Given the description of an element on the screen output the (x, y) to click on. 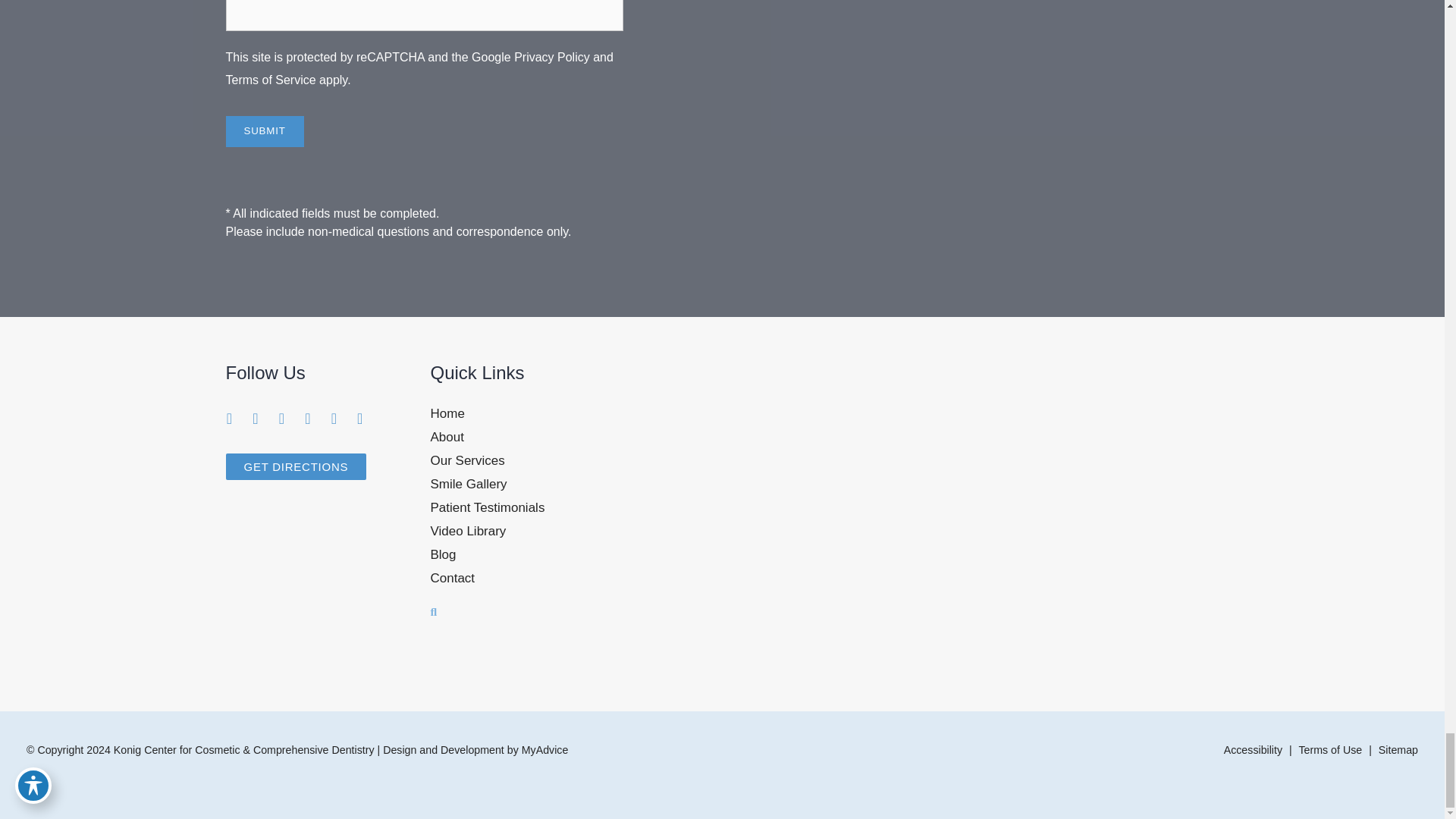
Submit (264, 131)
